Given the description of an element on the screen output the (x, y) to click on. 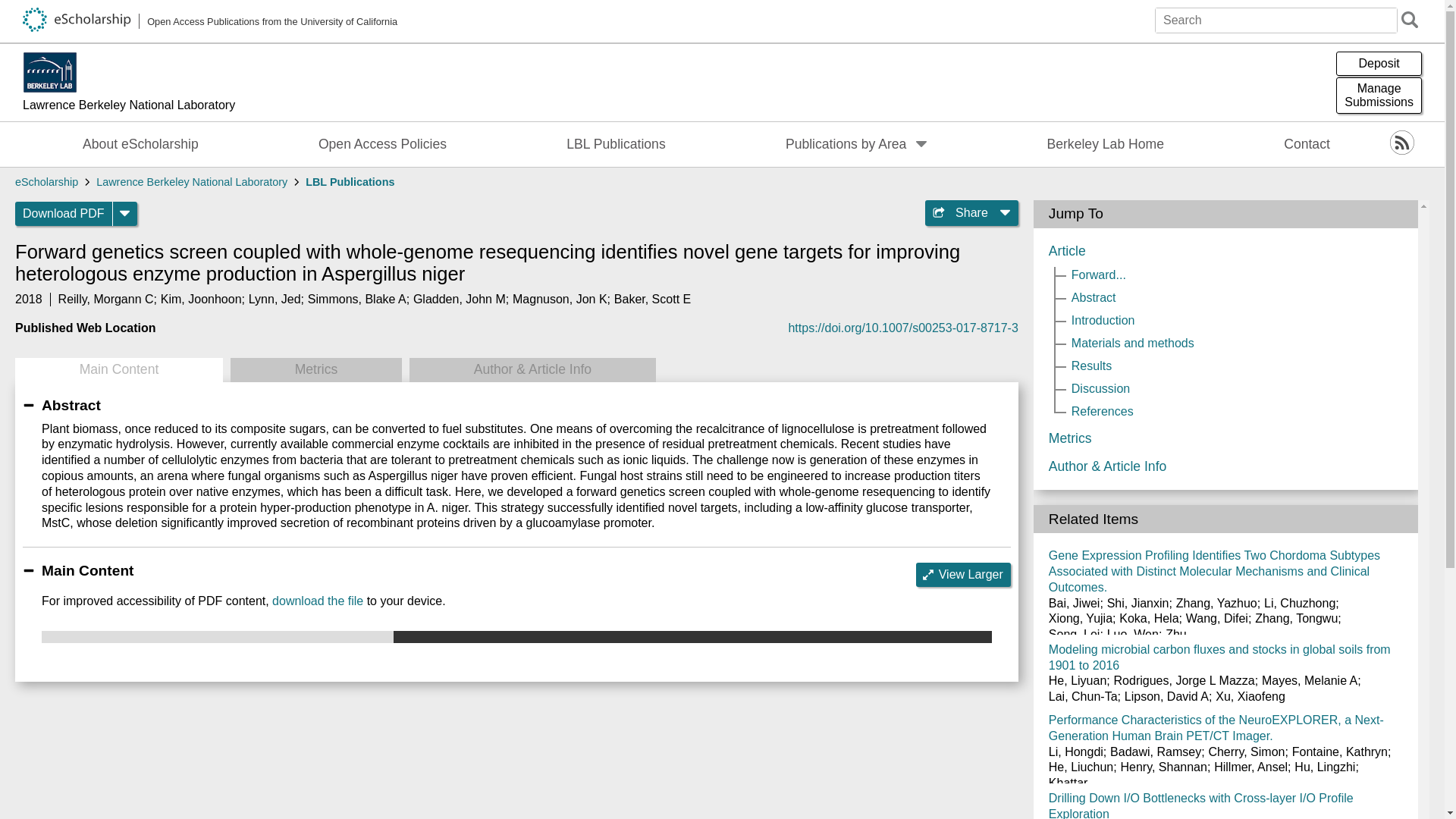
Lawrence Berkeley National Laboratory (191, 182)
Main Content (118, 369)
Open Access Policies (382, 143)
About eScholarship (140, 143)
Reilly, Morgann C (106, 298)
Simmons, Blake A (356, 298)
Baker, Scott E (652, 298)
eScholarship (46, 182)
Contact (1307, 143)
